Given the description of an element on the screen output the (x, y) to click on. 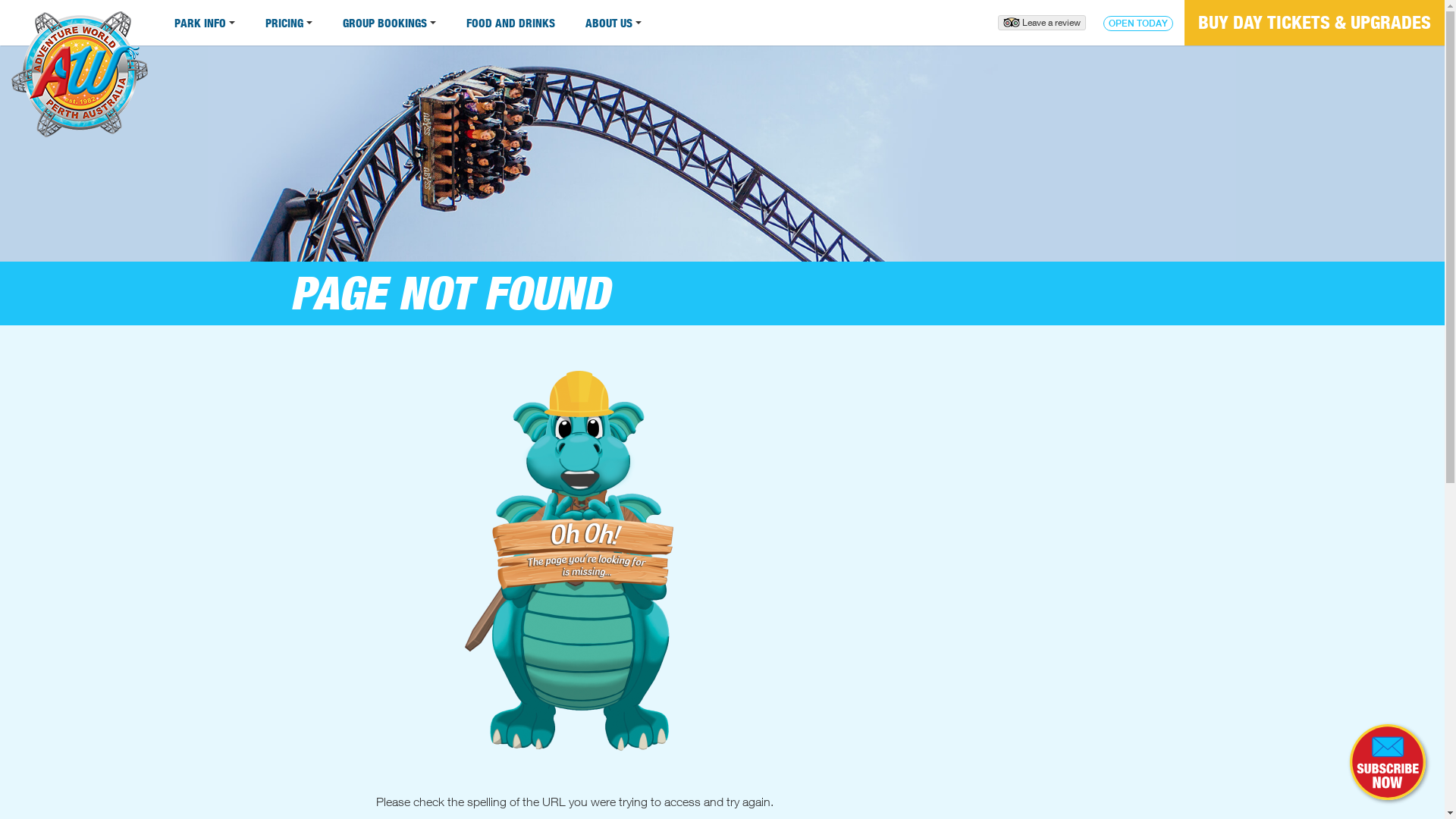
OPEN TODAY Element type: text (1138, 23)
ADVENTURE WORLD Element type: text (79, 79)
FOOD AND DRINKS Element type: text (510, 22)
GROUP BOOKINGS Element type: text (389, 22)
Leave a review Element type: text (1041, 22)
PRICING Element type: text (288, 22)
PARK INFO Element type: text (204, 22)
BUY DAY TICKETS & UPGRADES Element type: text (1314, 22)
ABOUT US Element type: text (613, 22)
